Given the description of an element on the screen output the (x, y) to click on. 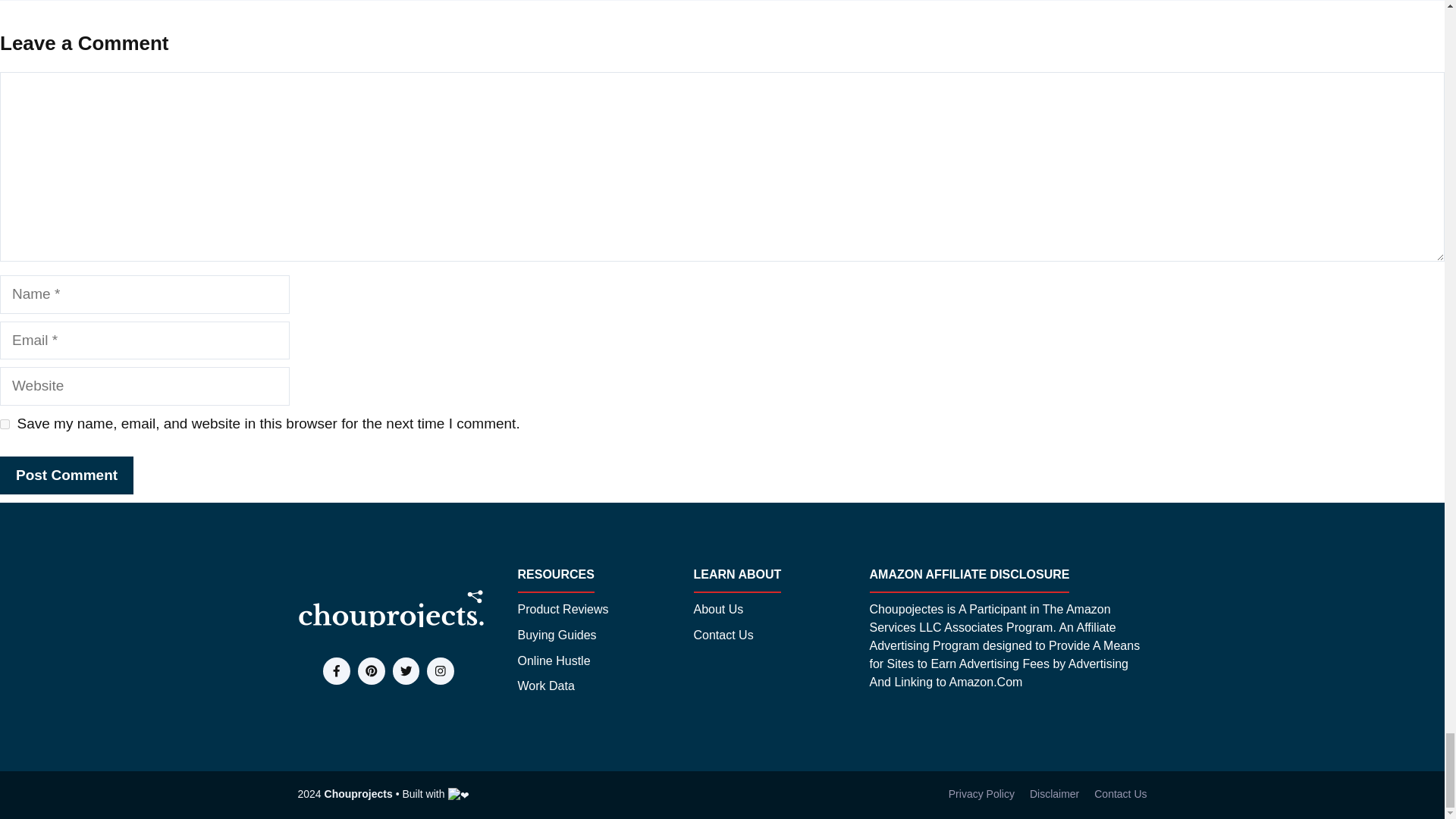
Post Comment (66, 475)
Buying Guides (555, 635)
Online Hustle (552, 660)
Work Data (544, 686)
Contact Us (722, 635)
Disclaimer (1053, 794)
Contact Us (1120, 794)
yes (5, 424)
Product Reviews (562, 609)
About Us (717, 609)
